Given the description of an element on the screen output the (x, y) to click on. 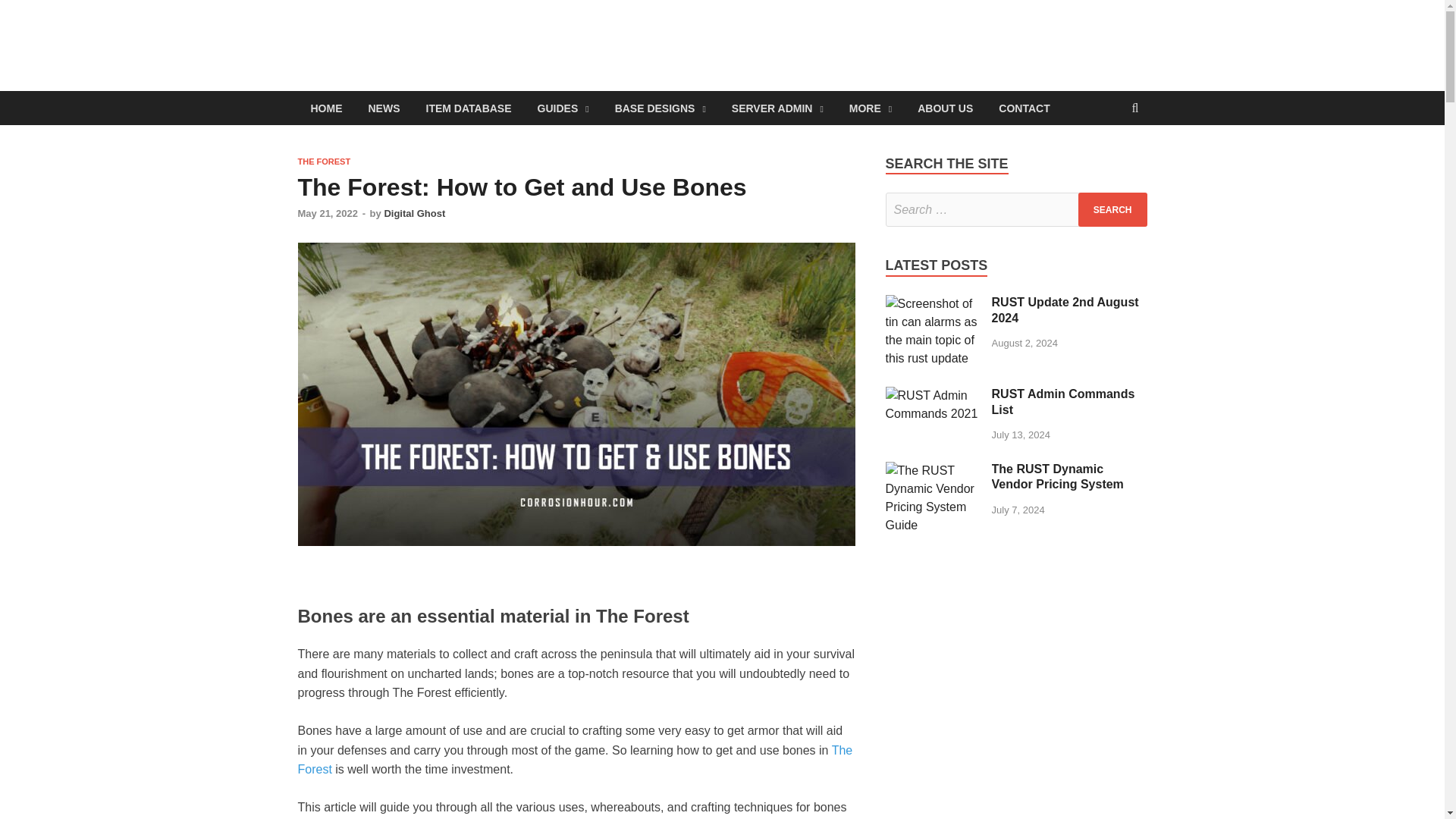
RUST Admin Commands List (932, 395)
RUST Update 2nd August 2024 (932, 303)
SERVER ADMIN (777, 107)
HOME (326, 107)
GUIDES (563, 107)
Search (1112, 209)
NEWS (383, 107)
Search (1112, 209)
MORE (869, 107)
The RUST Dynamic Vendor Pricing System (932, 470)
